Given the description of an element on the screen output the (x, y) to click on. 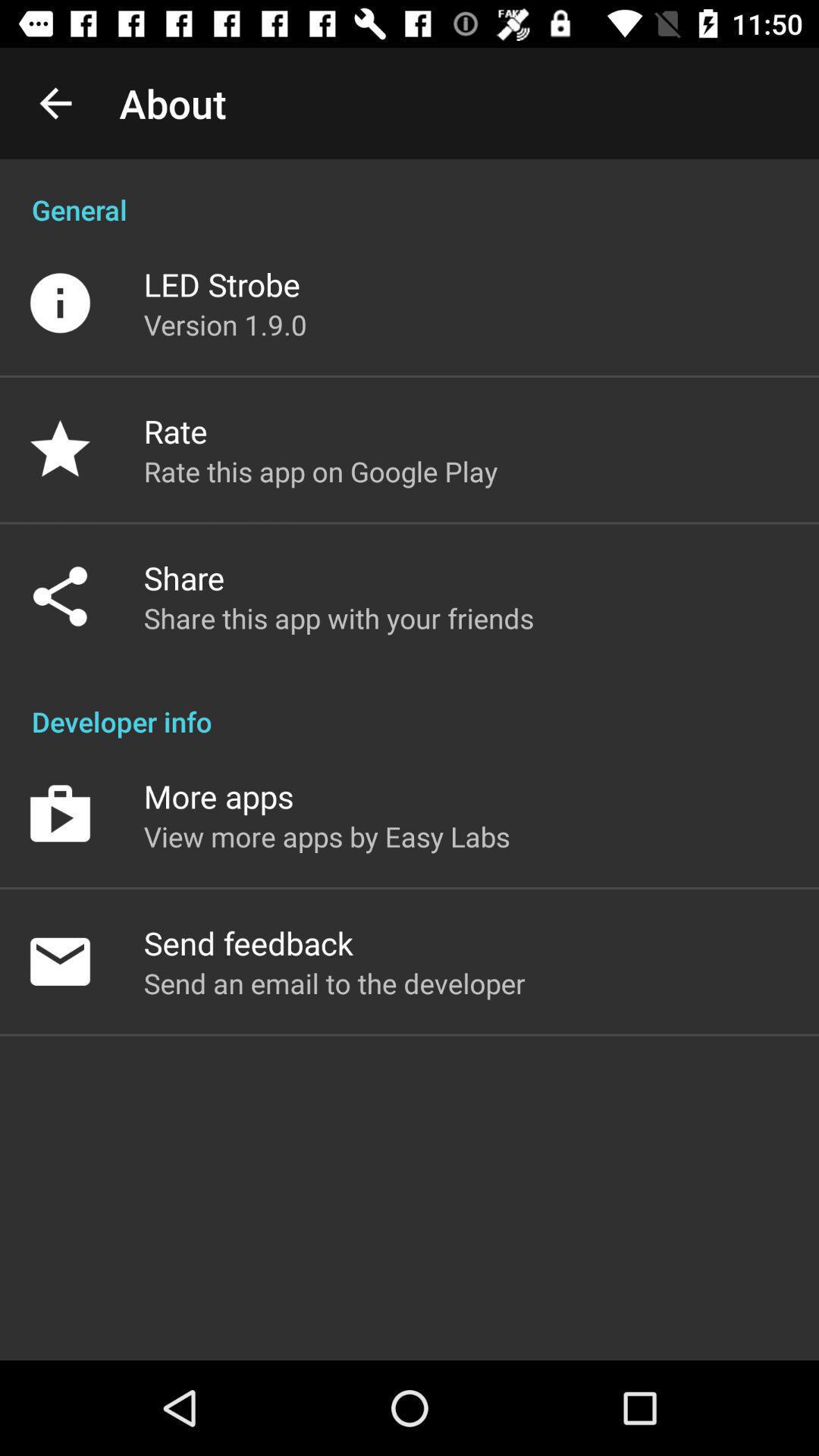
launch app above the version 1 9 app (221, 283)
